Given the description of an element on the screen output the (x, y) to click on. 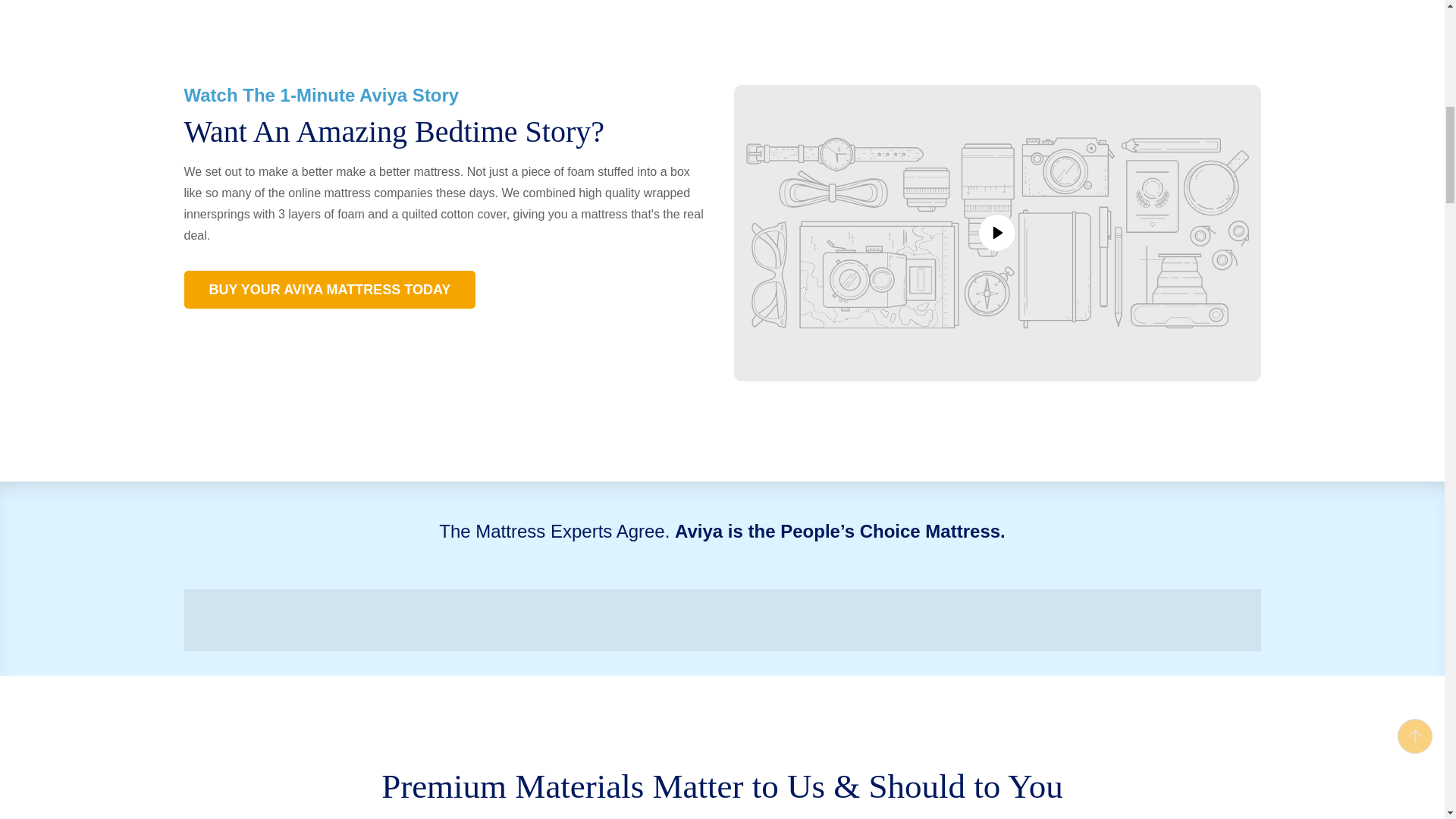
BUY YOUR AVIYA MATTRESS TODAY (329, 289)
